Given the description of an element on the screen output the (x, y) to click on. 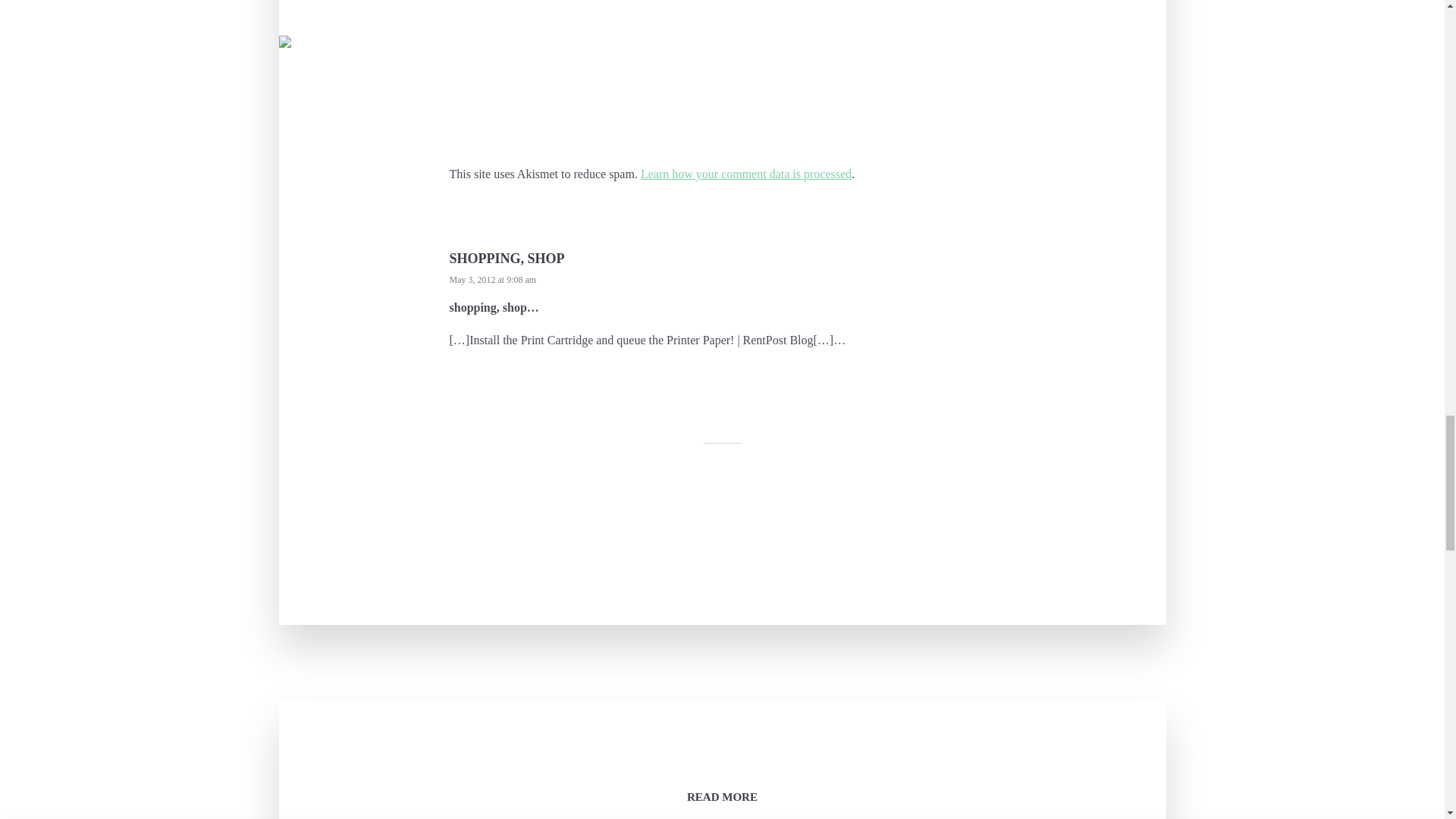
SHOPPING, SHOP (506, 258)
Comment Form (721, 77)
May 3, 2012 at 9:08 am (491, 279)
Learn how your comment data is processed (745, 173)
